Given the description of an element on the screen output the (x, y) to click on. 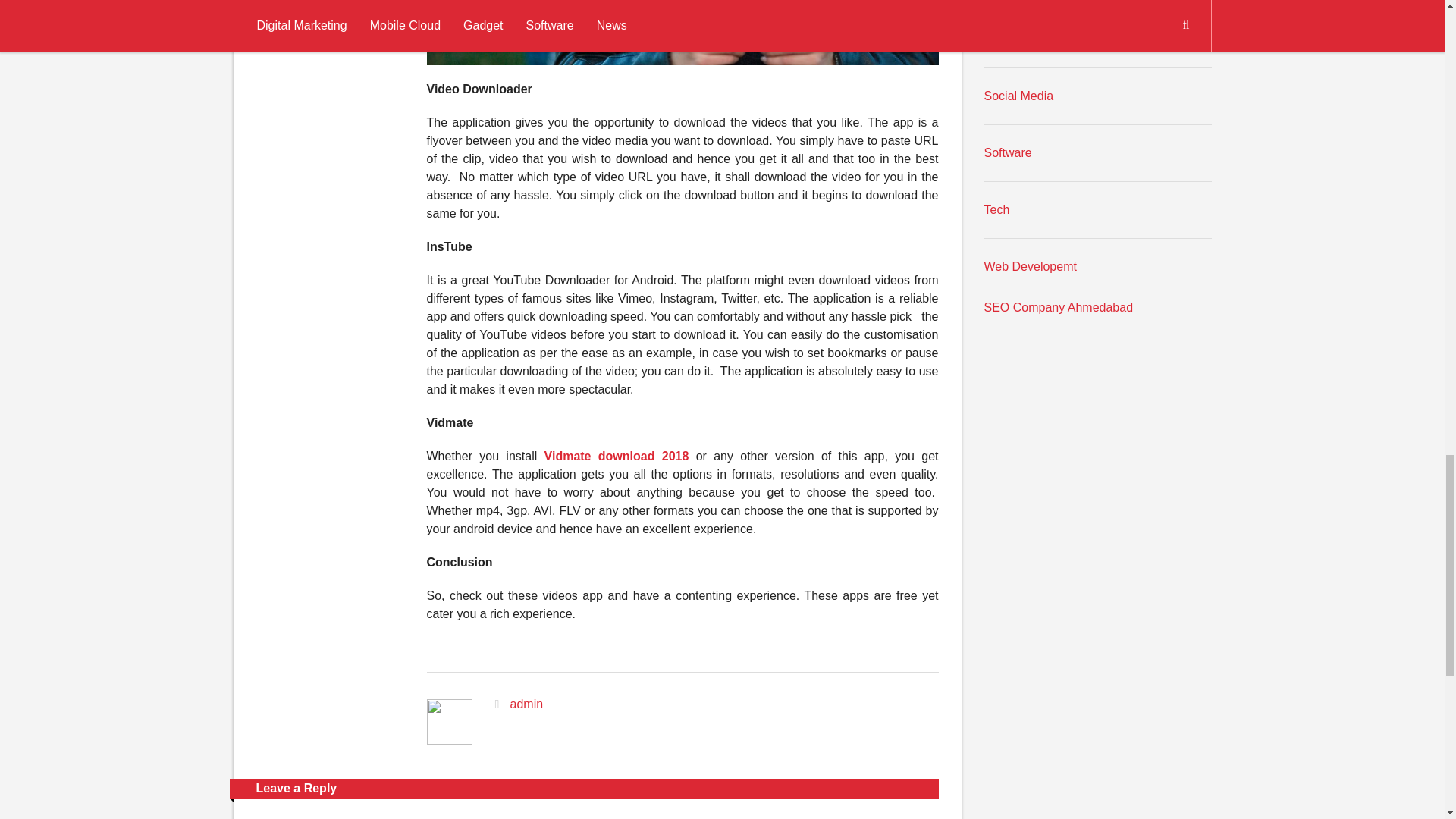
Posts by admin (526, 703)
Vidmate download 2018 (616, 455)
admin (526, 703)
